Given the description of an element on the screen output the (x, y) to click on. 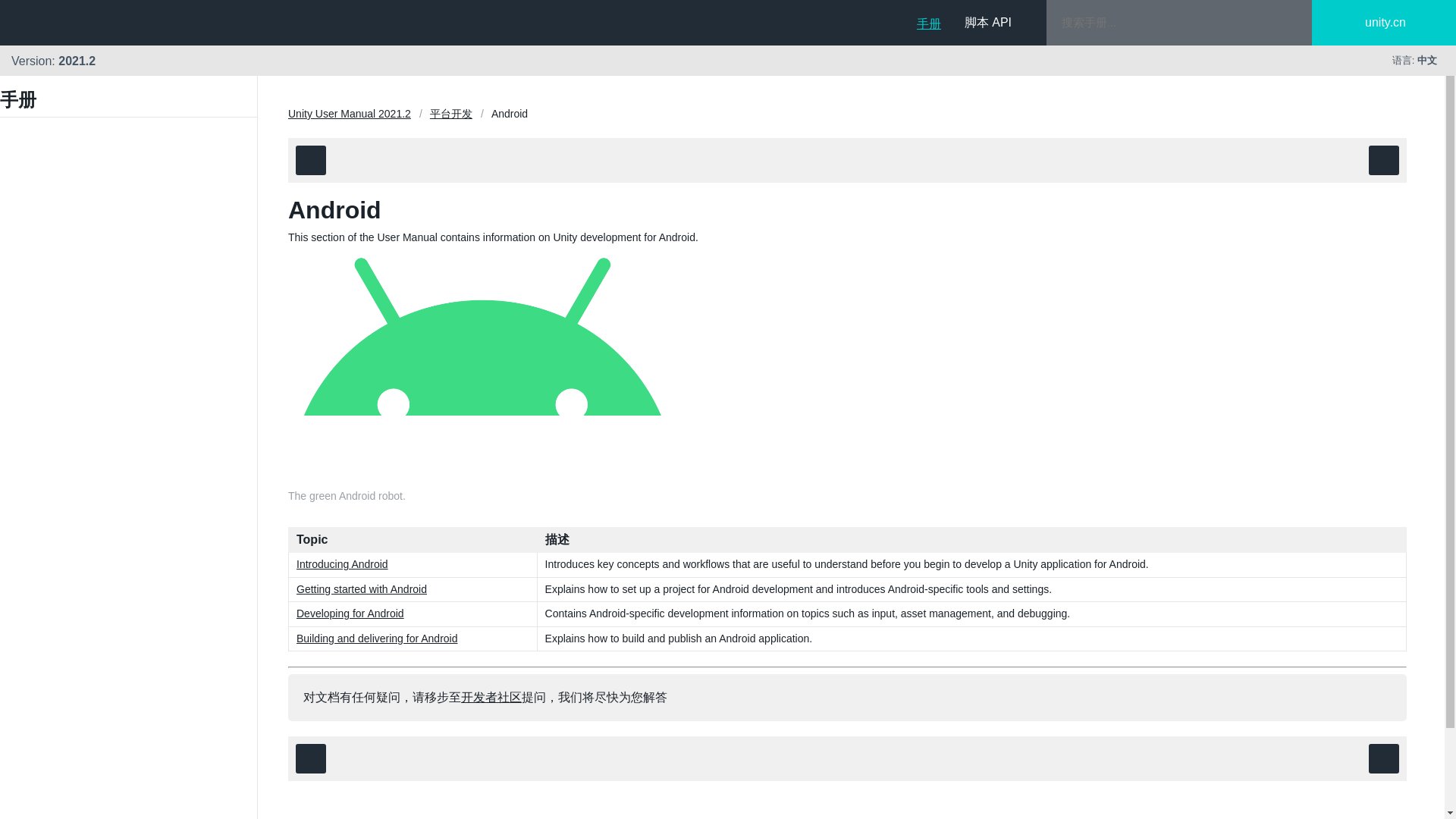
unity.cn (1397, 22)
